Given the description of an element on the screen output the (x, y) to click on. 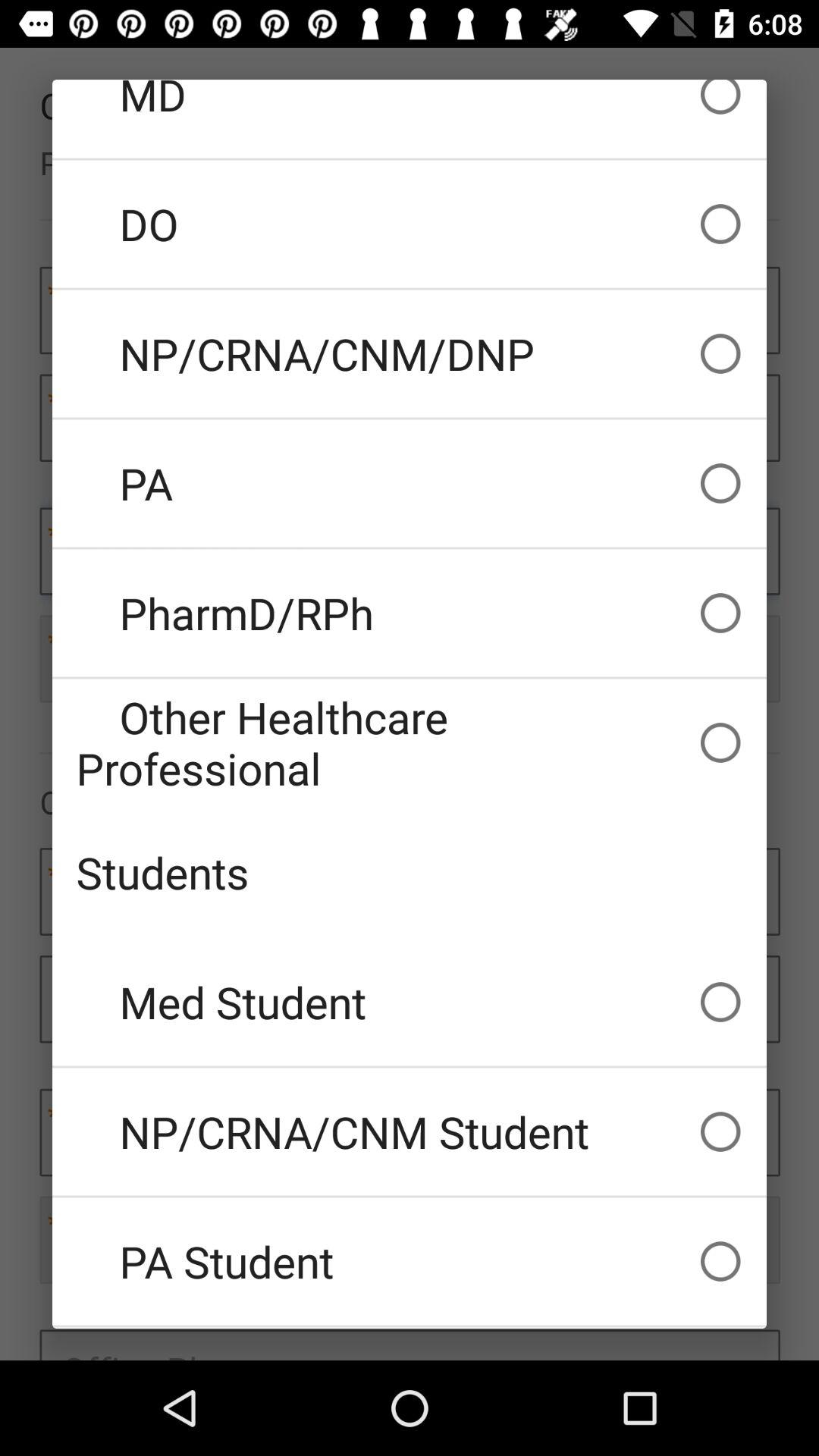
turn off item below np crna cnm icon (409, 1261)
